Given the description of an element on the screen output the (x, y) to click on. 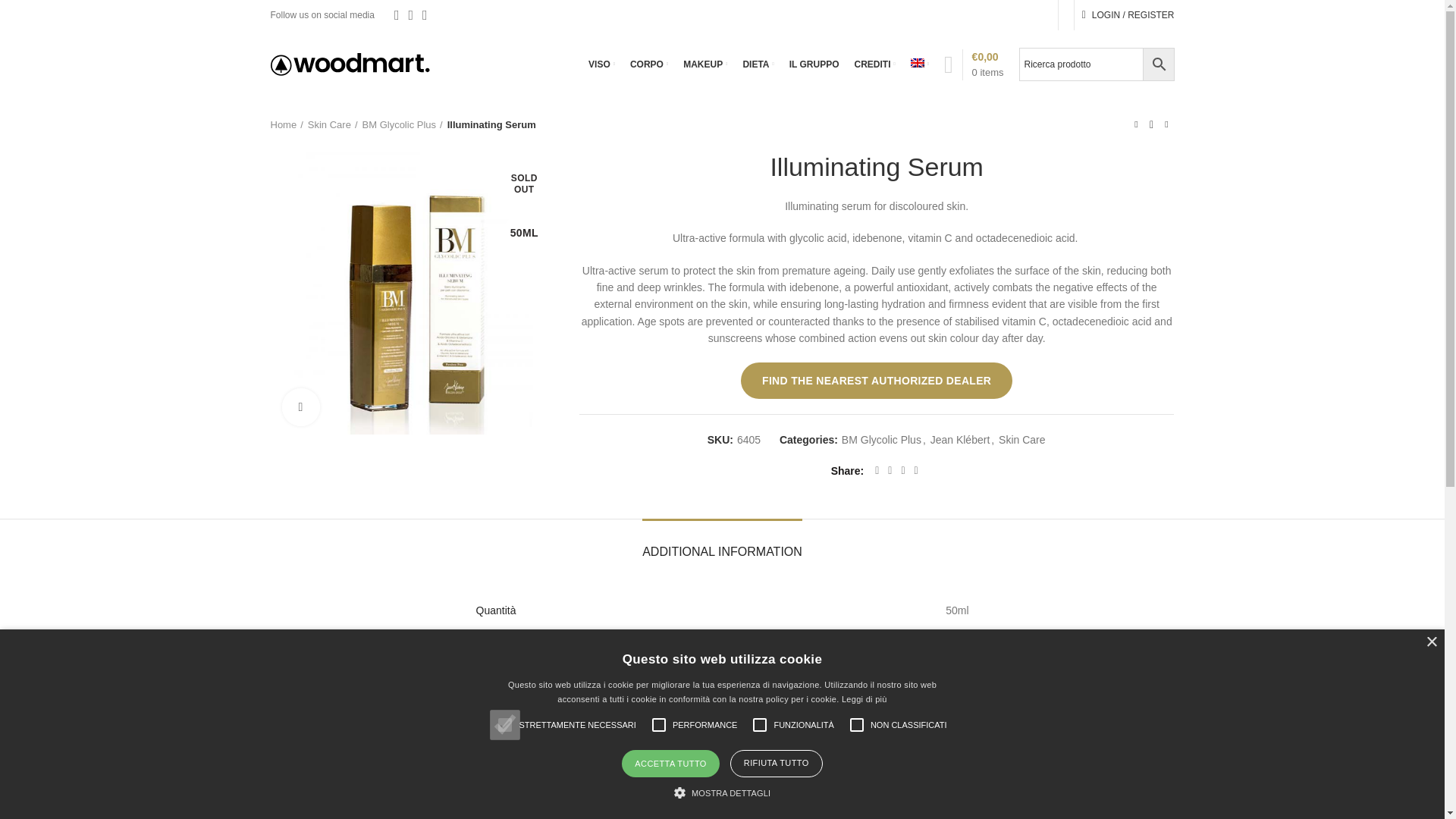
My account (1128, 15)
VISO (601, 64)
strict (504, 725)
Log in (1049, 245)
Shopping cart (973, 63)
CORPO (649, 64)
